Given the description of an element on the screen output the (x, y) to click on. 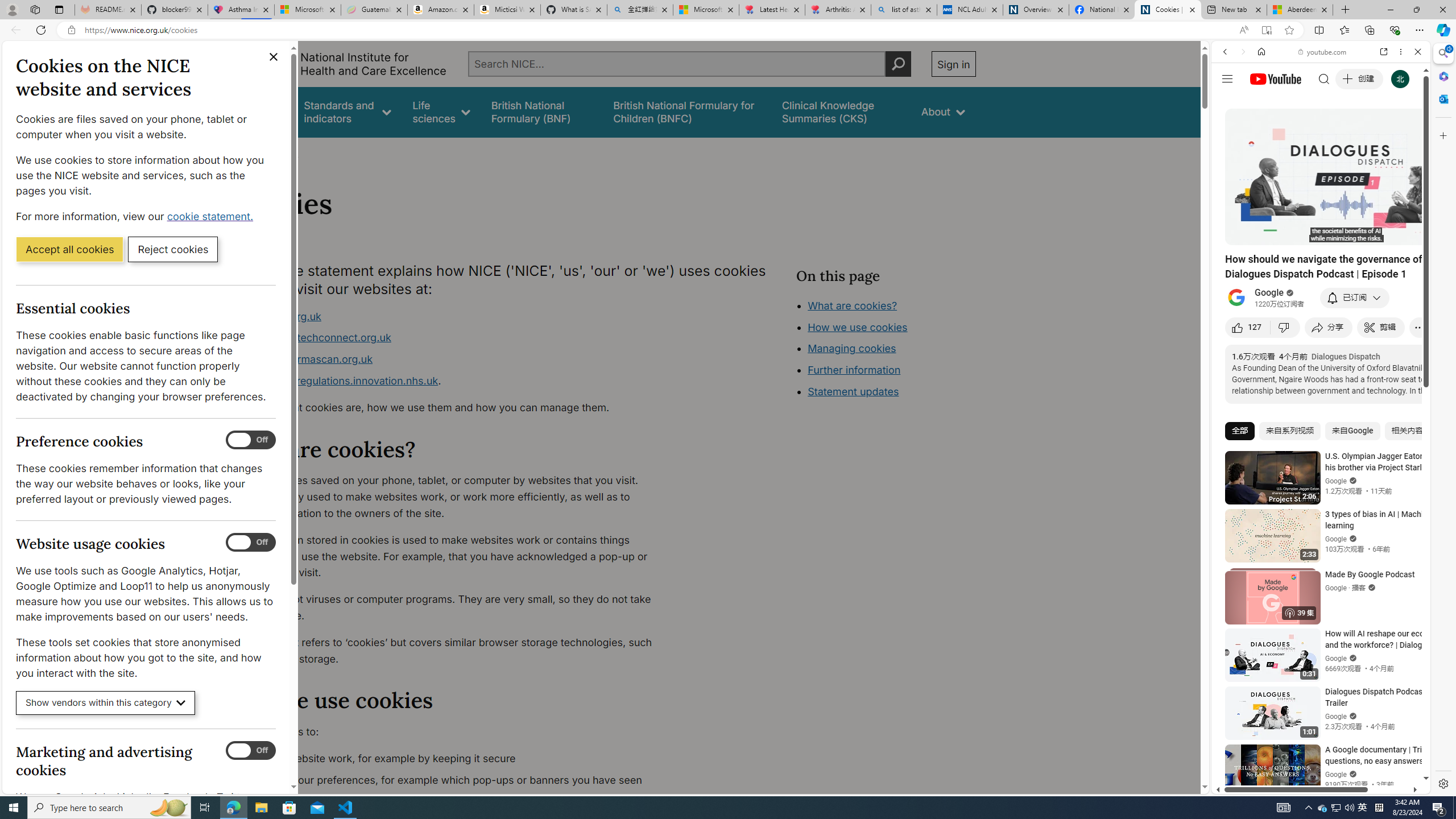
How we use cookies (857, 327)
www.nice.org.uk (452, 316)
Perform search (898, 63)
